Given the description of an element on the screen output the (x, y) to click on. 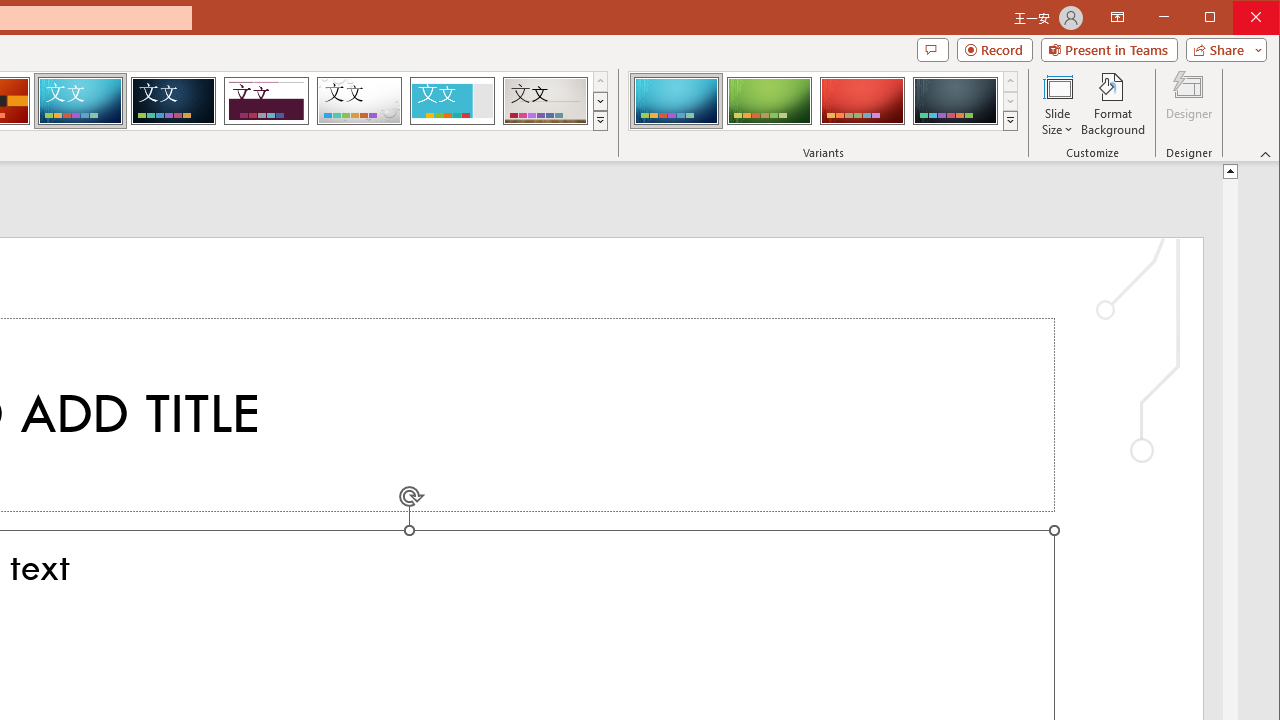
Collapse the Ribbon (1266, 154)
AutomationID: ThemeVariantsGallery (824, 101)
Slide Size (1057, 104)
Gallery (545, 100)
Circuit Variant 1 (676, 100)
Minimize (1216, 18)
Line up (1230, 170)
Ribbon Display Options (1117, 17)
Circuit Variant 3 (862, 100)
Dividend (266, 100)
Format Background (1113, 104)
Row up (1010, 81)
Circuit Variant 2 (769, 100)
Close (1261, 18)
Share (1222, 49)
